Given the description of an element on the screen output the (x, y) to click on. 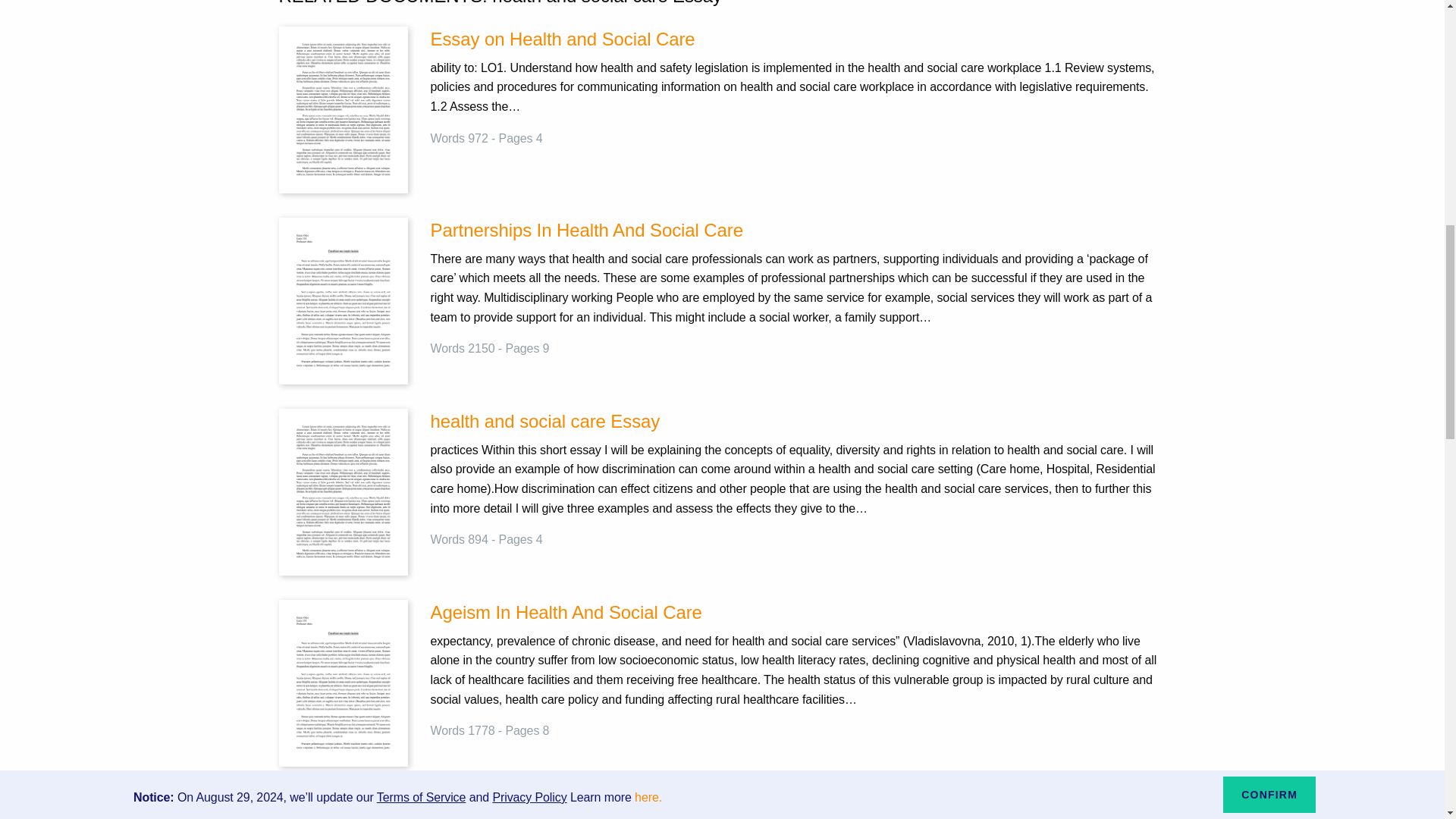
Ageism In Health And Social Care (343, 681)
health and social care Essay (343, 490)
Essay on Health and Social Care (798, 39)
Partnerships In Health And Social Care (343, 299)
Health And Social Care Values (798, 803)
Partnerships In Health And Social Care (798, 230)
Ageism In Health And Social Care (798, 612)
Essay on Health and Social Care (343, 108)
Partnerships In Health And Social Care (798, 230)
Essay on Health and Social Care (798, 39)
Ageism In Health And Social Care (798, 612)
Health And Social Care Values (798, 803)
health and social care Essay (798, 421)
health and social care Essay (798, 421)
